Given the description of an element on the screen output the (x, y) to click on. 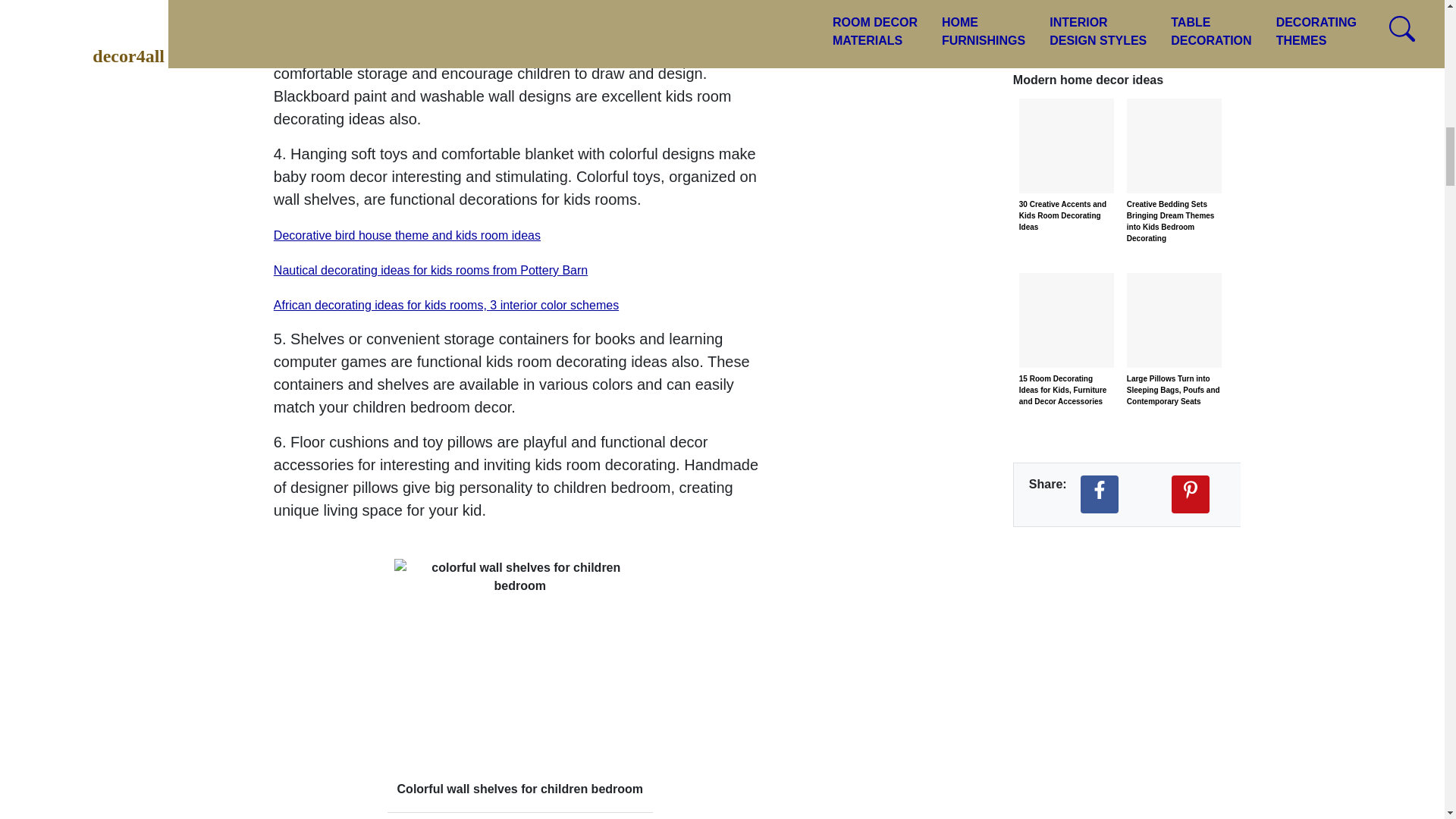
Nautical decorating ideas for kids rooms from Pottery Barn (430, 269)
Decorative bird house theme and kids room ideas (406, 235)
